Given the description of an element on the screen output the (x, y) to click on. 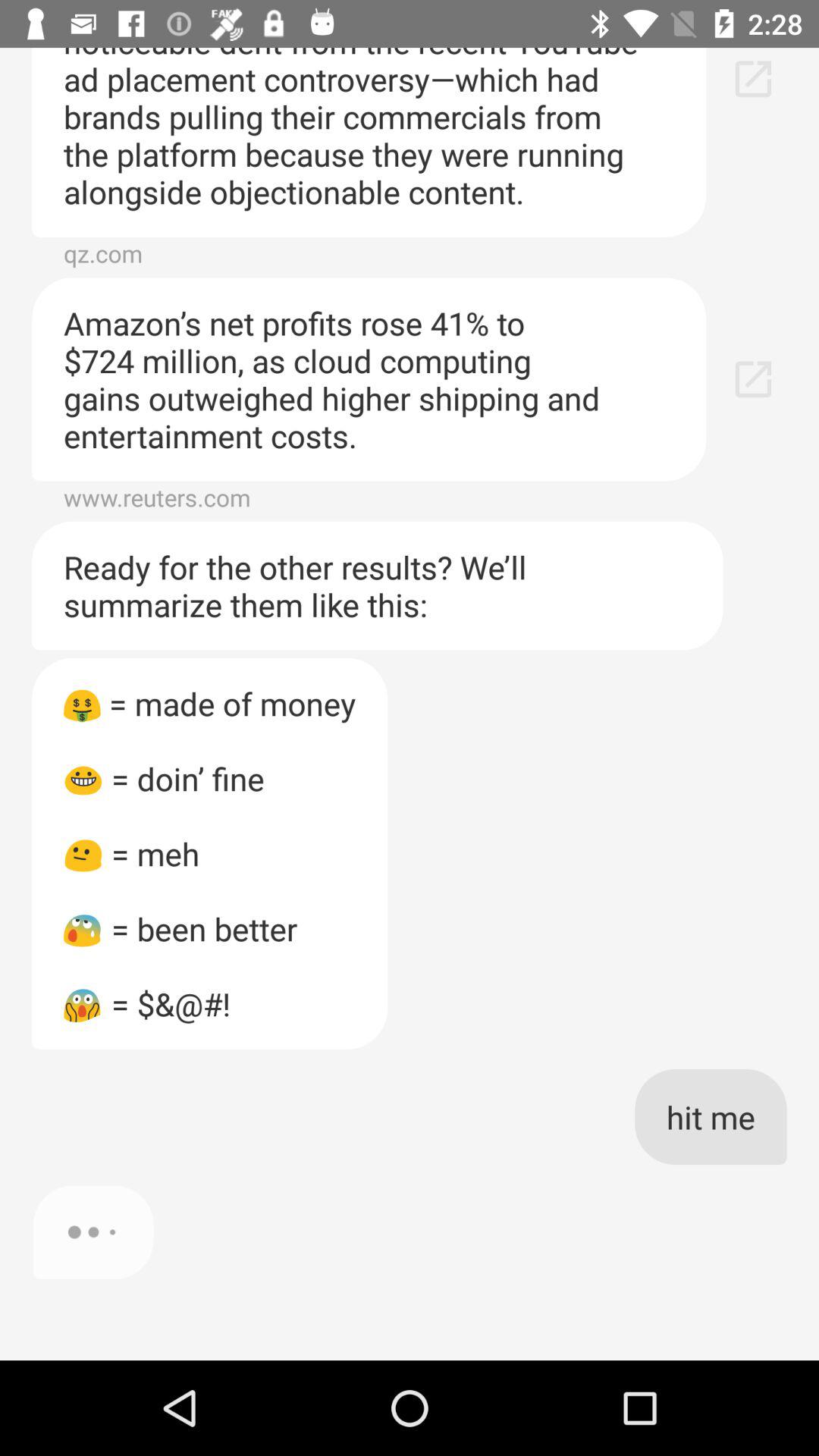
select the item above qz.com (368, 142)
